Given the description of an element on the screen output the (x, y) to click on. 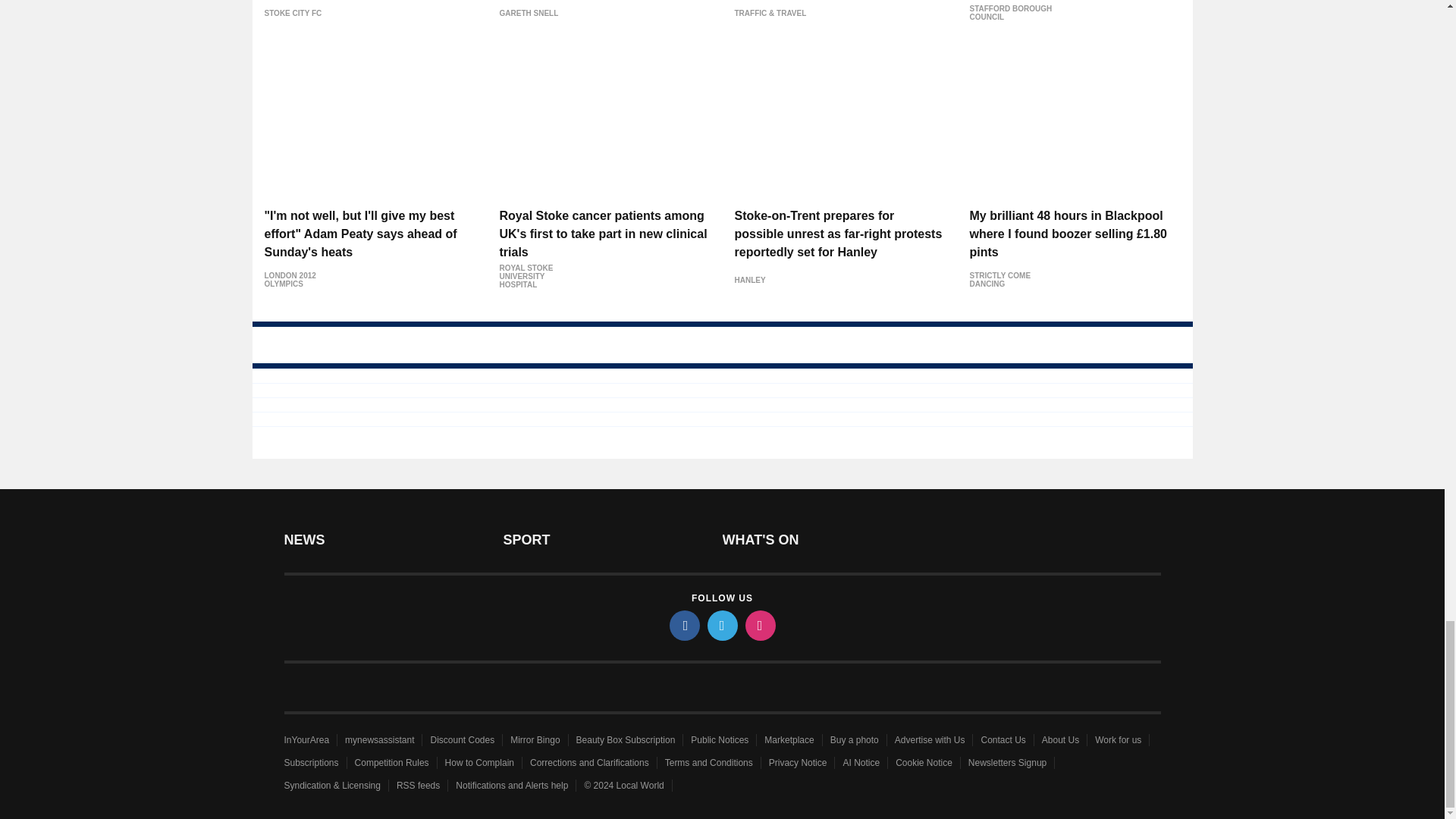
twitter (721, 625)
facebook (683, 625)
instagram (759, 625)
